Given the description of an element on the screen output the (x, y) to click on. 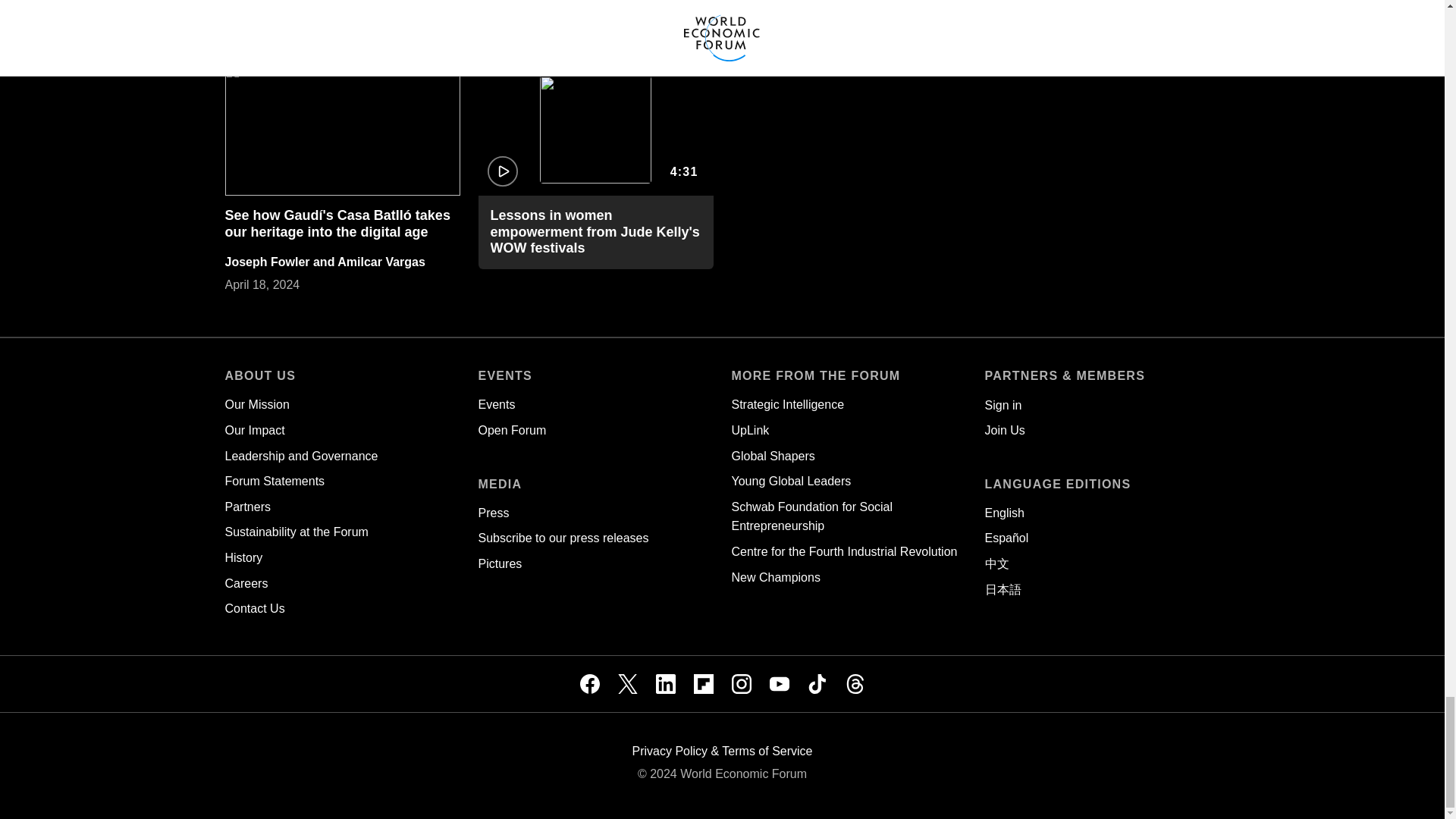
Our Mission (256, 404)
Lessons in women empowerment from Jude Kelly's WOW festivals (593, 231)
4:31 (595, 129)
